Given the description of an element on the screen output the (x, y) to click on. 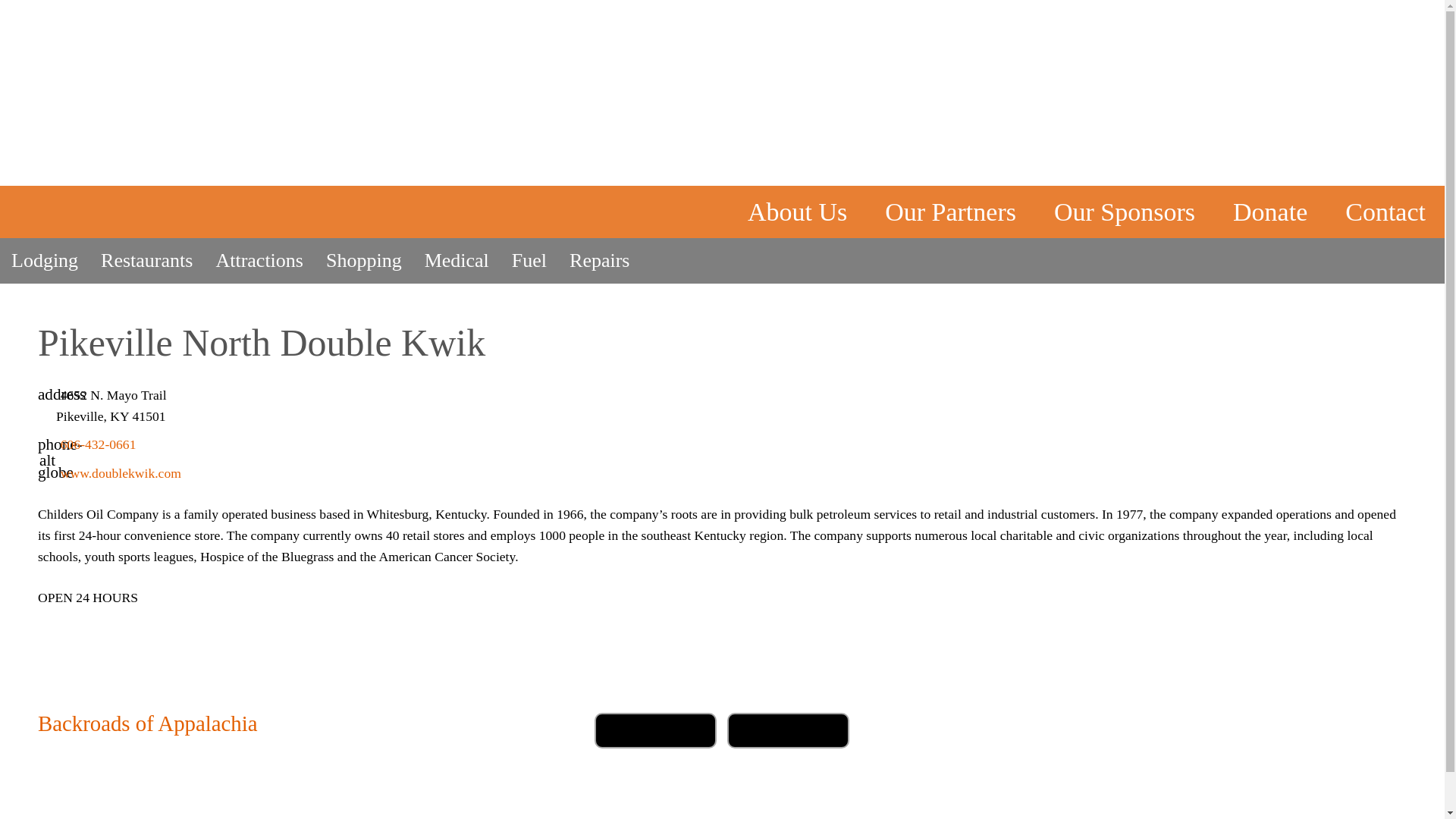
Restaurants (145, 260)
facebook (1227, 730)
Shopping (363, 260)
Our Sponsors (1124, 211)
606-432-0661 (98, 444)
www.doublekwik.com (120, 473)
instagram (1345, 730)
Trails (1036, 146)
Medical (456, 260)
News (1152, 146)
Events (1273, 146)
Opens in a new tab or window (1345, 730)
Our Partners (950, 211)
youtube (1117, 730)
Opens in a new tab or window (1227, 730)
